Given the description of an element on the screen output the (x, y) to click on. 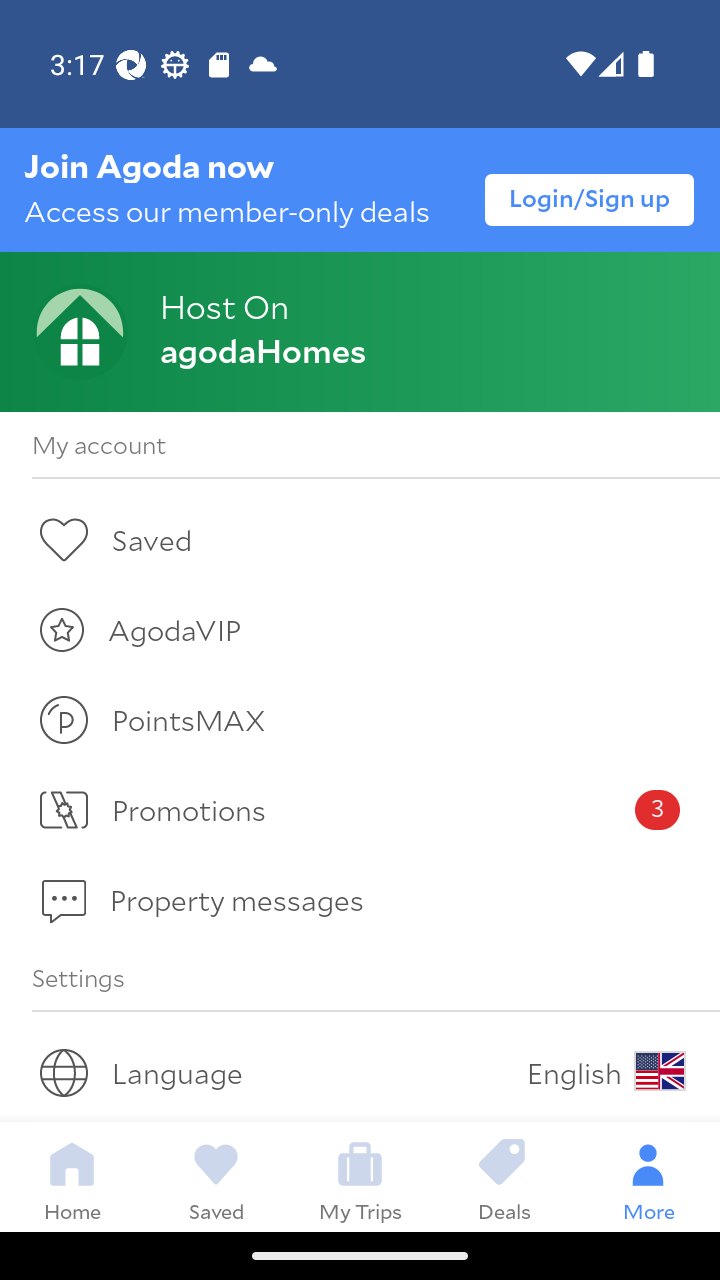
Login/Sign up  Login/Sign up (589, 199)
Host On agodaHomes (360, 332)
Home (72, 1176)
Saved (216, 1176)
My Trips (360, 1176)
Deals (504, 1176)
More (648, 1176)
